Given the description of an element on the screen output the (x, y) to click on. 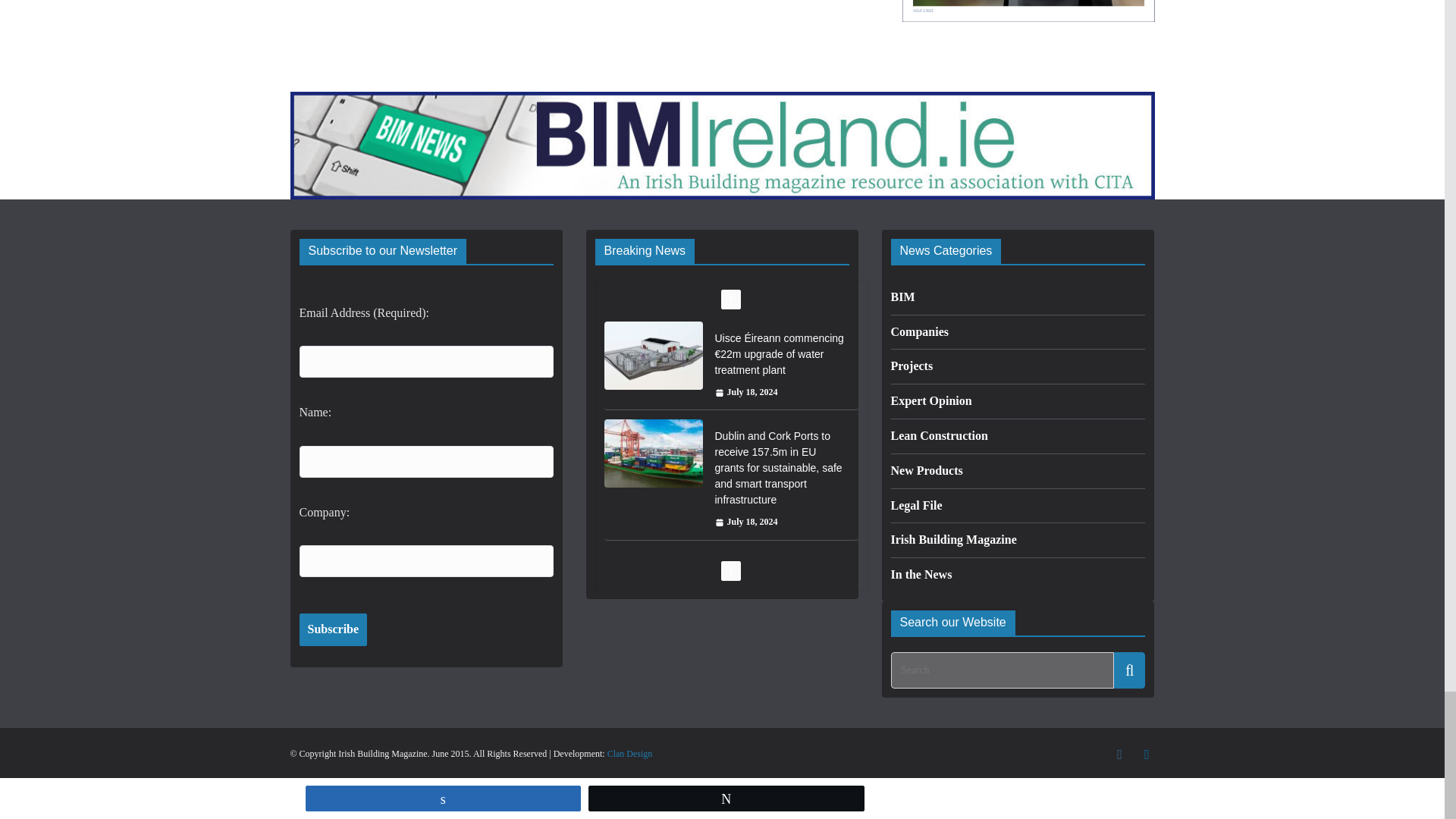
Subscribe (332, 629)
7:08 am (745, 522)
7:34 am (745, 392)
